Given the description of an element on the screen output the (x, y) to click on. 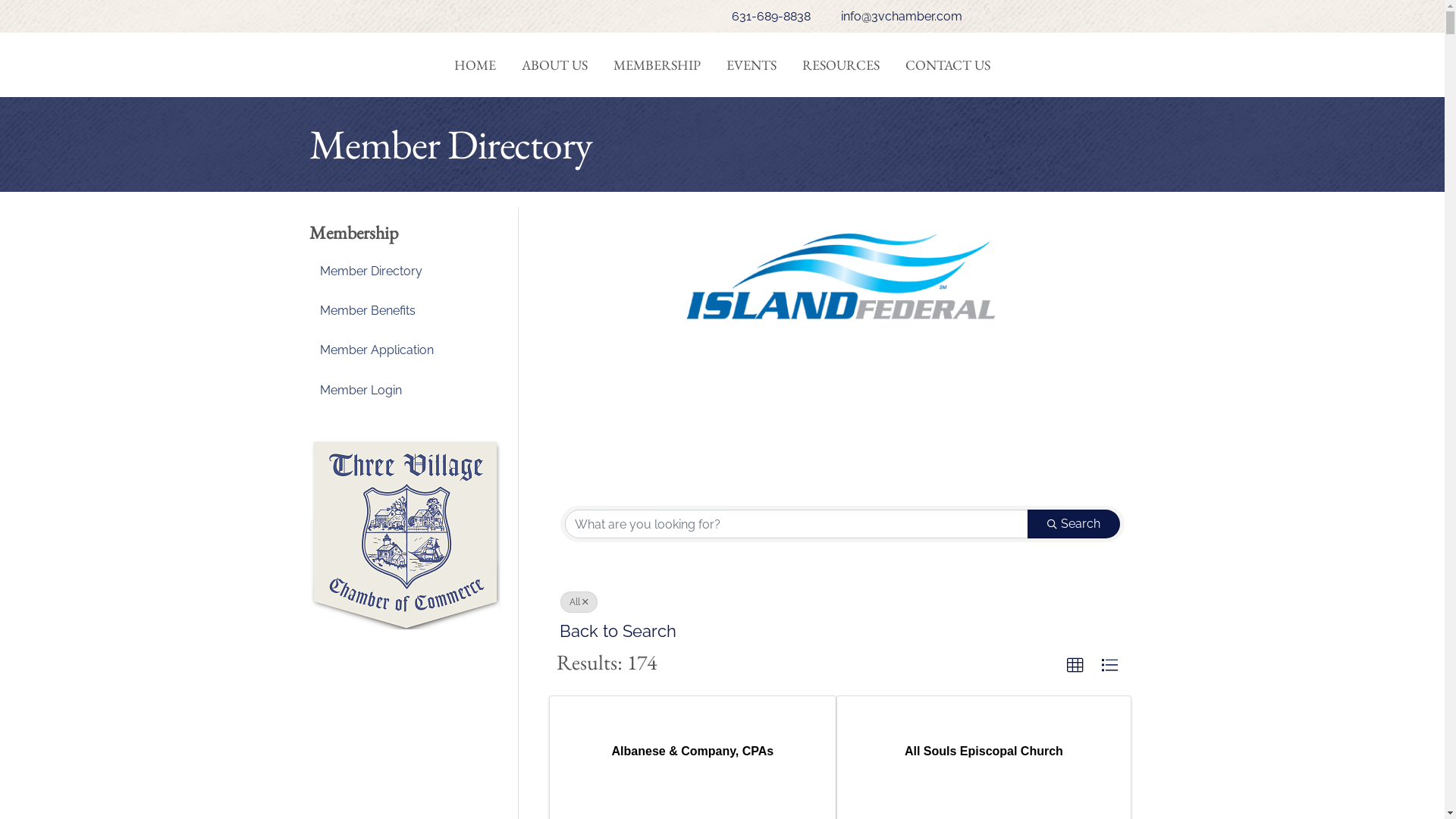
Member Benefits Element type: text (405, 310)
Member Application Element type: text (405, 349)
info@3vchamber.com Element type: text (893, 16)
631-689-8838 Element type: text (763, 16)
Member Directory Element type: text (405, 270)
RESOURCES Element type: text (840, 64)
List View Element type: hover (1109, 665)
MEMBERSHIP Element type: text (657, 64)
Back to Search Element type: text (617, 630)
Albanese & Company, CPAs Element type: text (692, 750)
All Souls Episcopal Church Element type: text (983, 750)
Grid View Element type: hover (1075, 665)
Member Login Element type: text (405, 389)
HOME Element type: text (474, 64)
All Element type: text (578, 601)
EVENTS Element type: text (751, 64)
ABOUT US Element type: text (554, 64)
Search Element type: text (1073, 523)
CONTACT US Element type: text (947, 64)
